Given the description of an element on the screen output the (x, y) to click on. 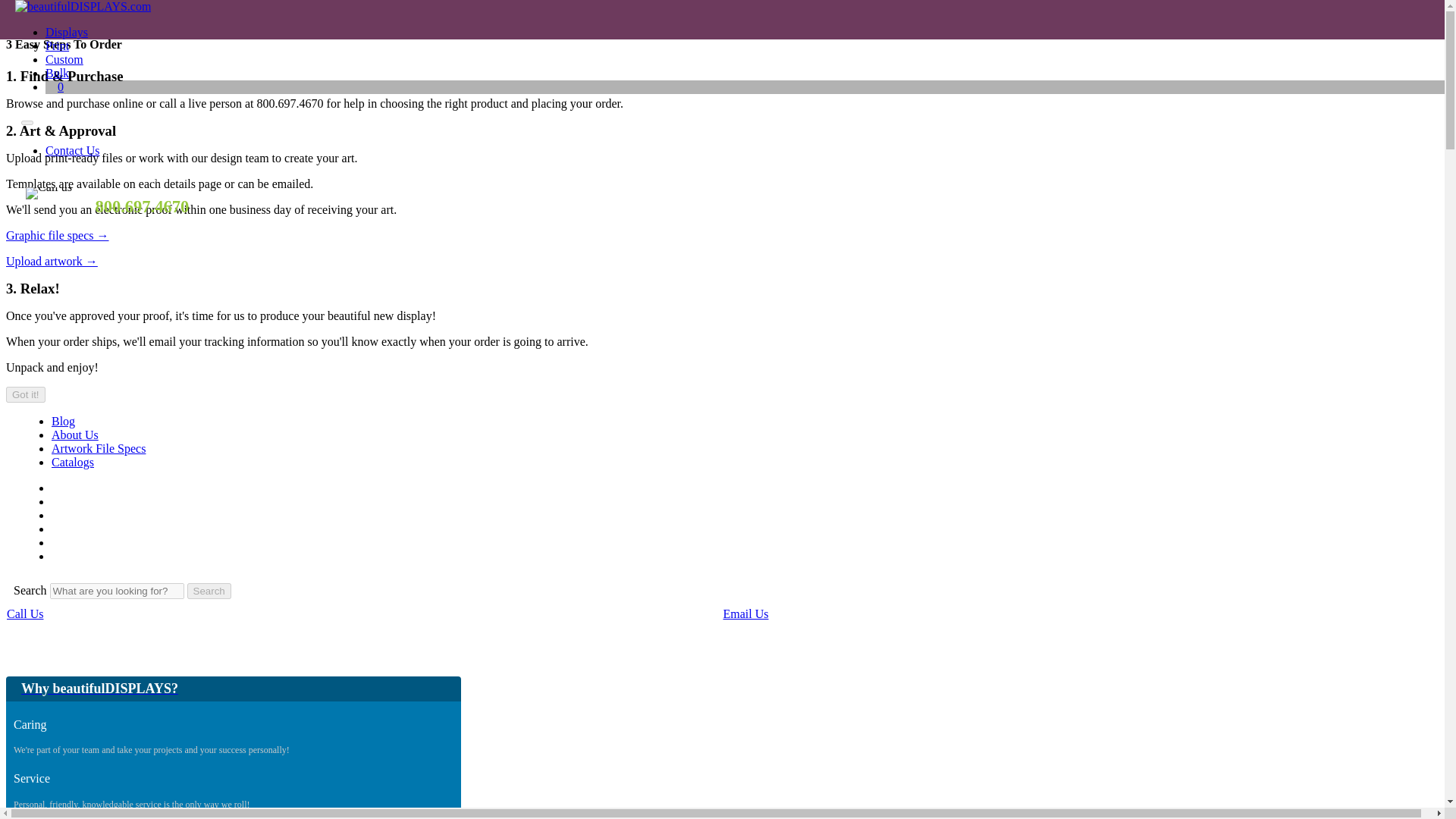
Call Us (25, 613)
0 (60, 86)
Got it! (25, 394)
Artwork File Specs (97, 448)
Custom (63, 59)
Search (920, 14)
Print (56, 45)
Catalogs (72, 461)
Call us (48, 193)
Blog (62, 420)
Bulk (56, 72)
Search (202, 15)
Search (209, 590)
Contact Us (72, 150)
Displays (66, 31)
